Given the description of an element on the screen output the (x, y) to click on. 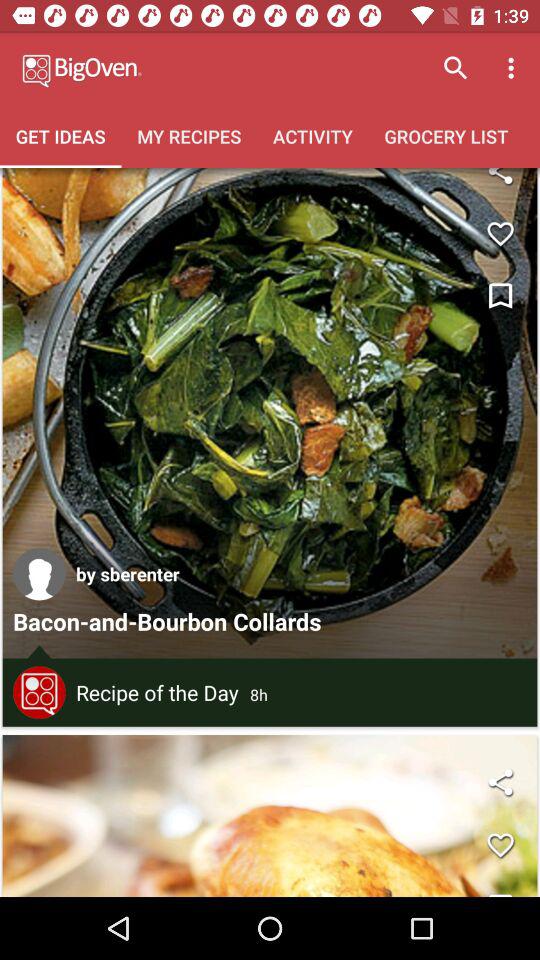
share button (500, 782)
